Given the description of an element on the screen output the (x, y) to click on. 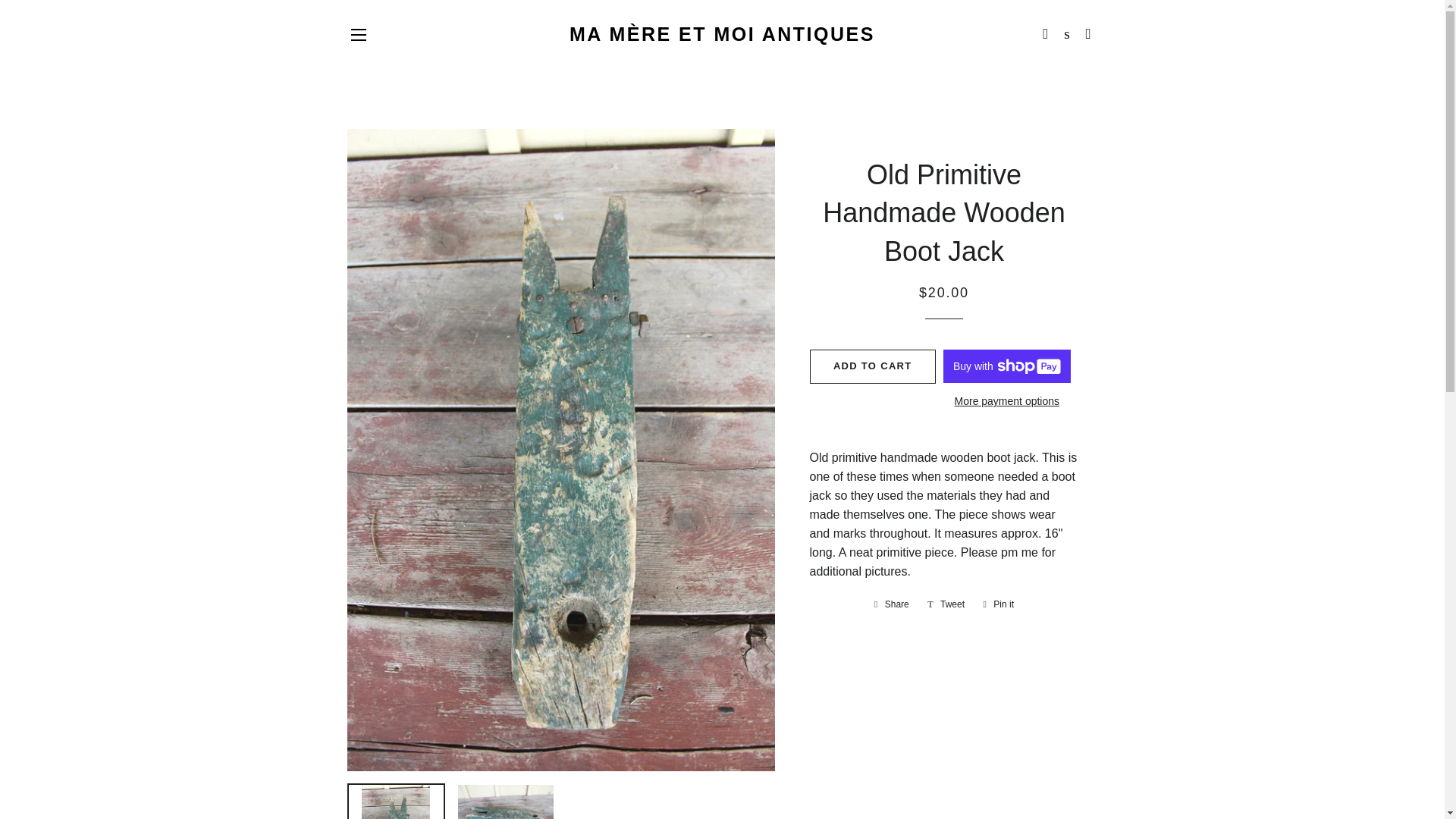
Tweet on Twitter (946, 604)
Pin on Pinterest (998, 604)
Share on Facebook (891, 604)
SITE NAVIGATION (358, 34)
